Given the description of an element on the screen output the (x, y) to click on. 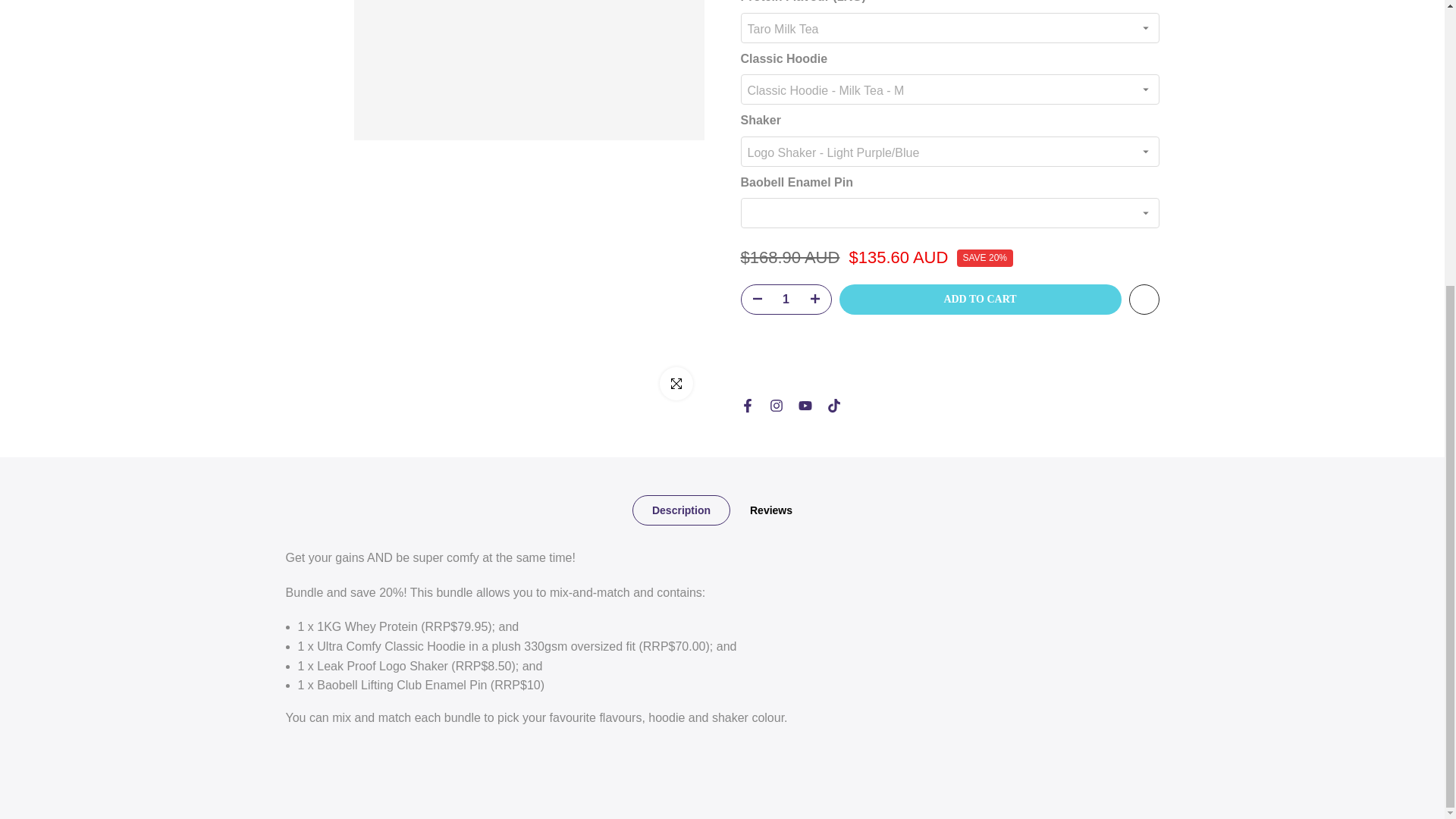
Follow on Tiktok (833, 241)
Follow on YouTube (803, 241)
Follow on Instagram (775, 241)
Follow on Facebook (746, 241)
1 (786, 134)
ADD TO CART (979, 134)
